Given the description of an element on the screen output the (x, y) to click on. 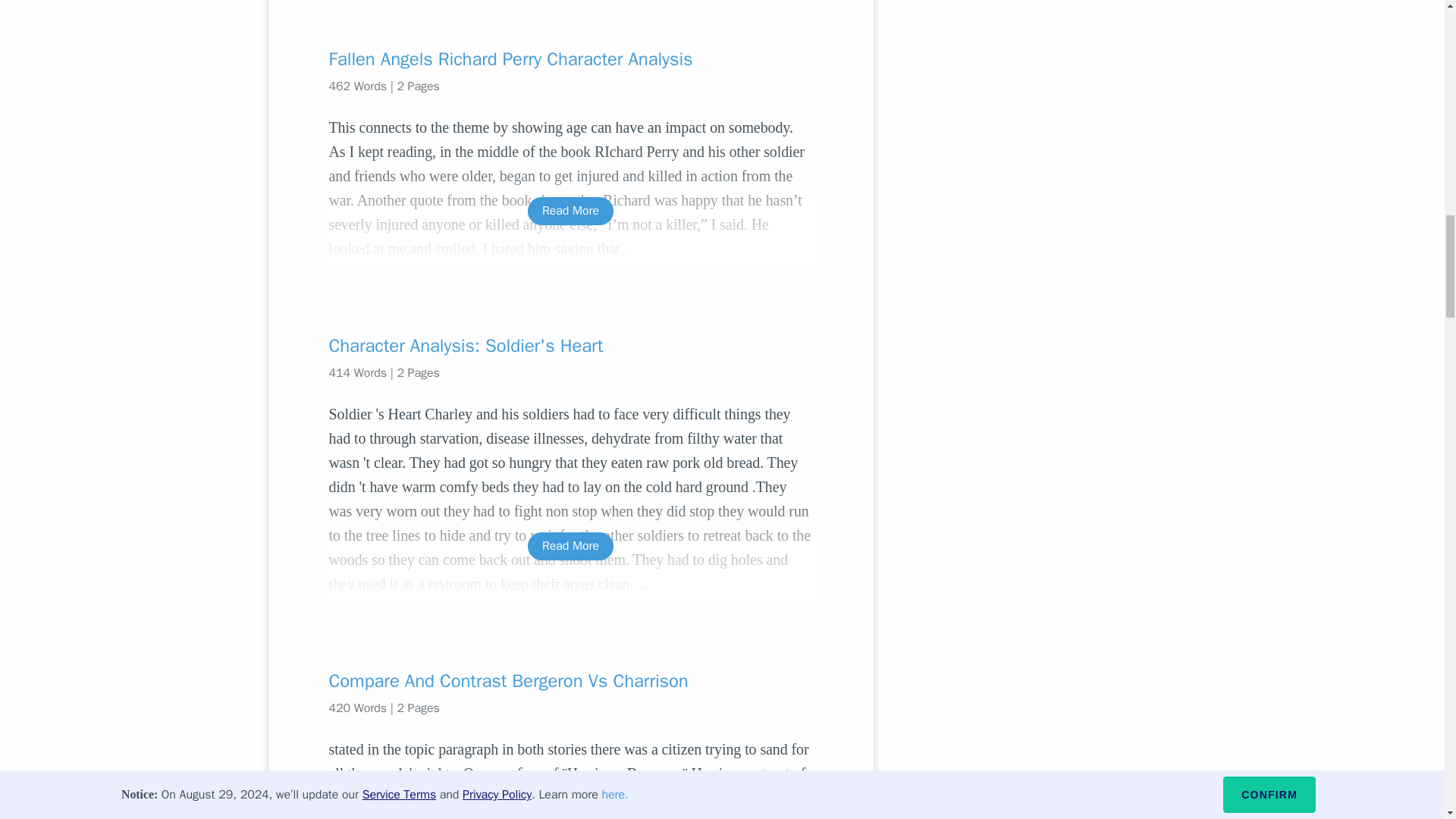
Compare And Contrast Bergeron Vs Charrison (570, 680)
Character Analysis: Soldier's Heart (570, 345)
Read More (569, 546)
Fallen Angels Richard Perry Character Analysis (570, 58)
Read More (569, 211)
